Given the description of an element on the screen output the (x, y) to click on. 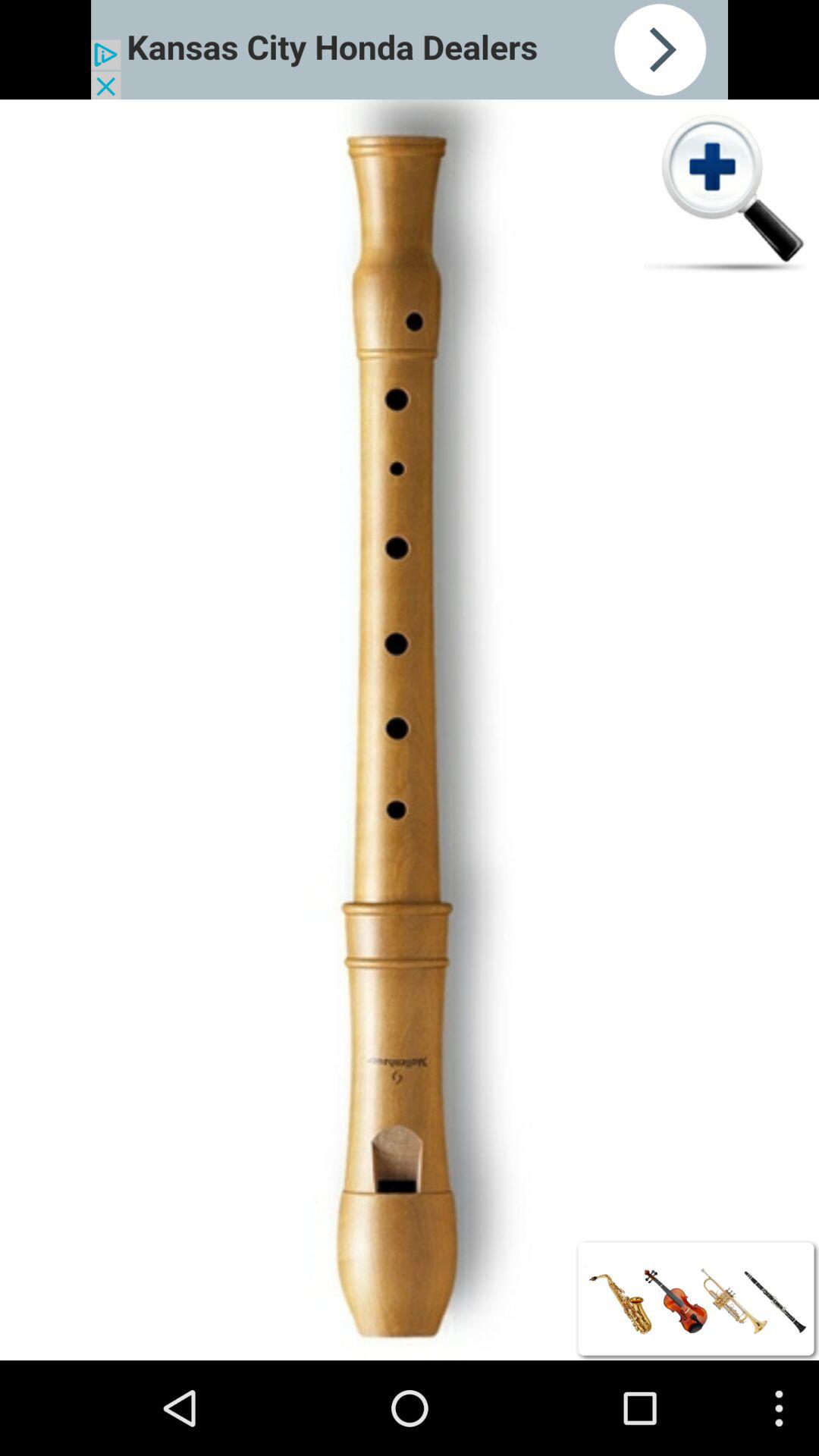
click advertisement (409, 49)
